Given the description of an element on the screen output the (x, y) to click on. 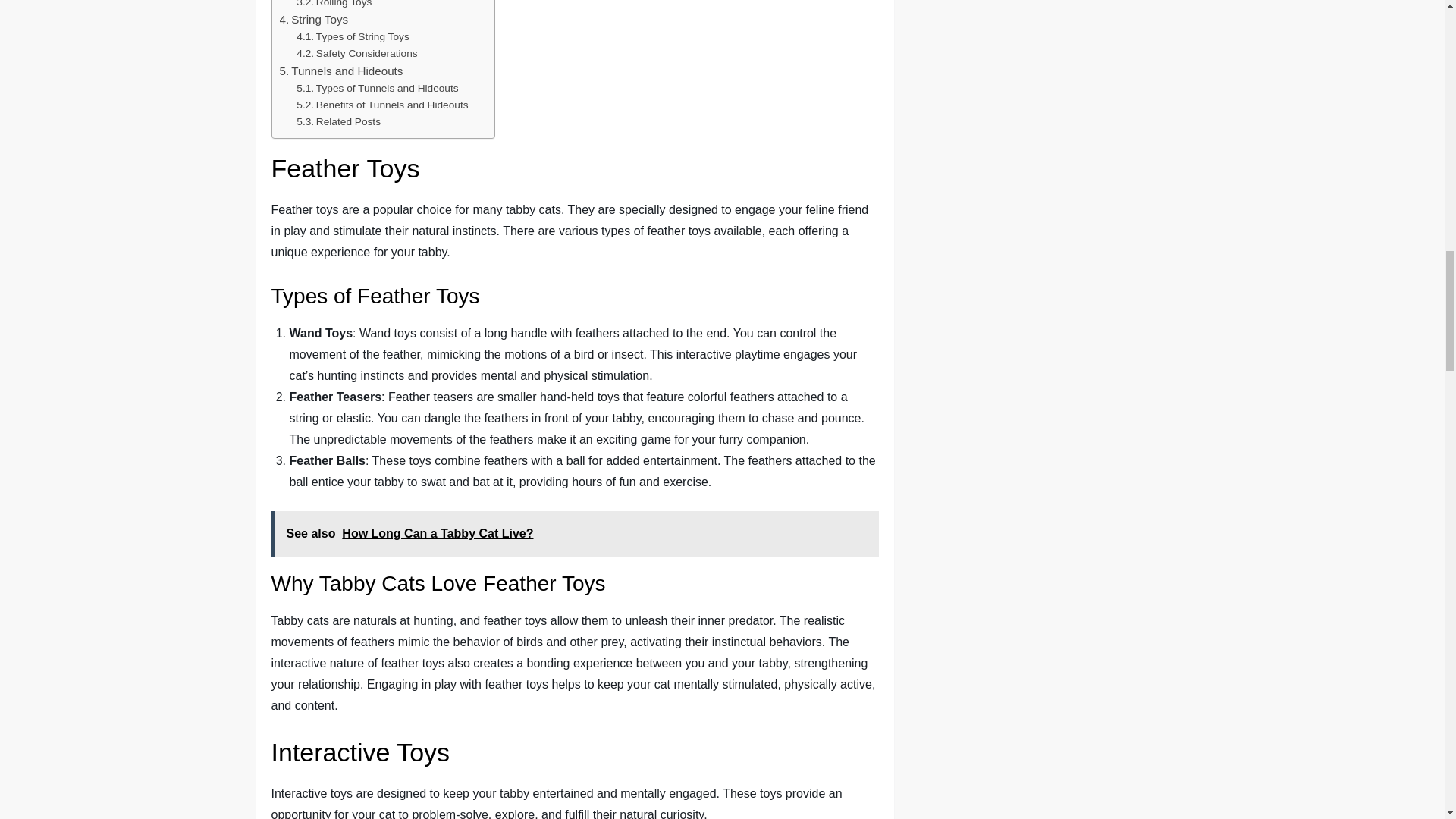
Rolling Toys (334, 5)
Related Posts (338, 121)
Rolling Toys (334, 5)
Types of String Toys (353, 36)
See also  How Long Can a Tabby Cat Live? (574, 533)
Tunnels and Hideouts (341, 71)
Types of Tunnels and Hideouts (377, 88)
Related Posts (338, 121)
String Toys (313, 19)
String Toys (313, 19)
Benefits of Tunnels and Hideouts (382, 105)
Safety Considerations (356, 53)
Types of String Toys (353, 36)
Types of Tunnels and Hideouts (377, 88)
Safety Considerations (356, 53)
